Given the description of an element on the screen output the (x, y) to click on. 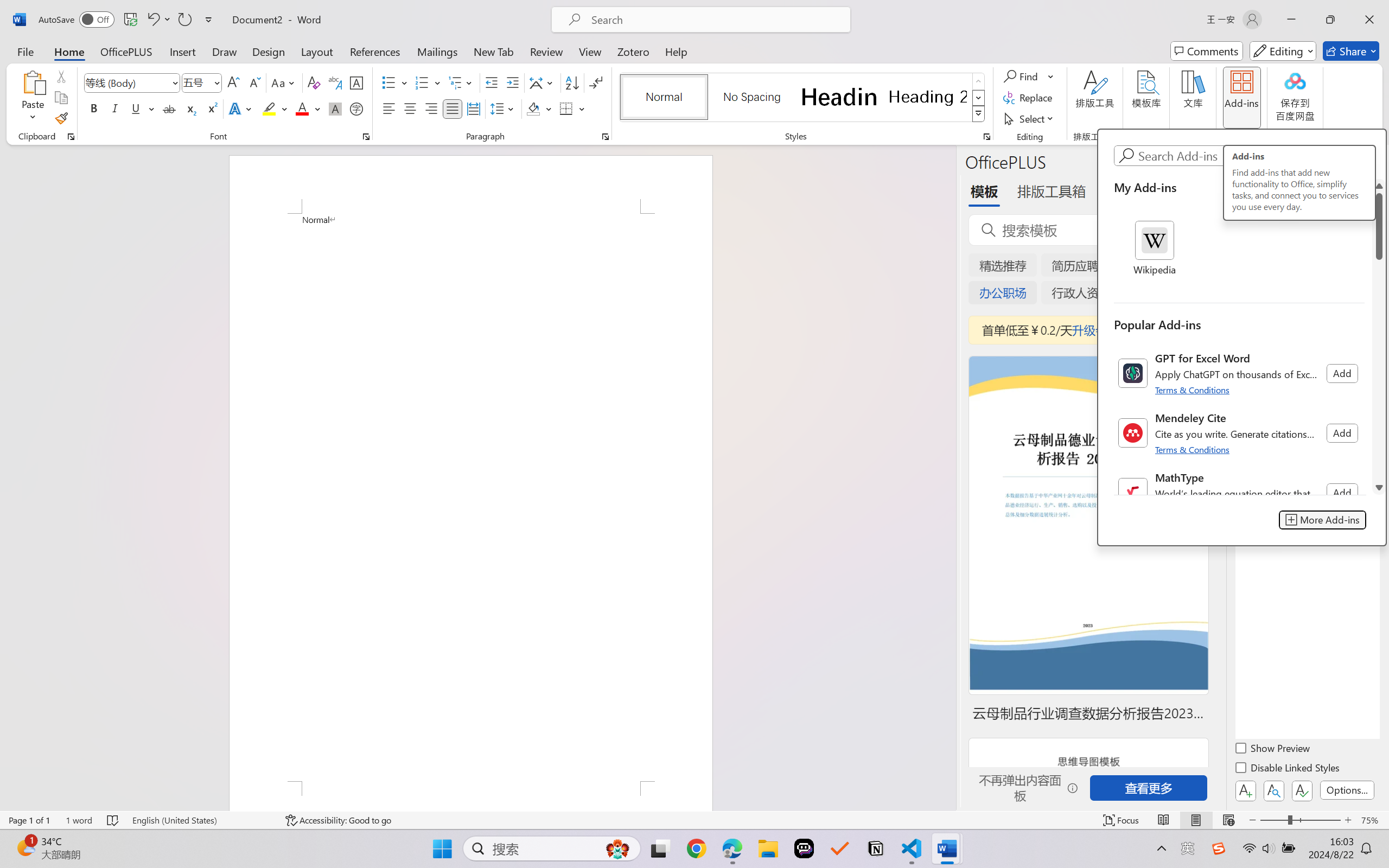
Paste (33, 81)
Phonetic Guide... (334, 82)
Decrease Indent (491, 82)
Multilevel List (461, 82)
Google Chrome (696, 848)
MathType (1239, 492)
Minimize (1291, 19)
Increase Indent (512, 82)
Word Count 1 word (78, 819)
Home (69, 51)
AutomationID: BadgeAnchorLargeTicker (24, 847)
Zoom (1300, 819)
